Given the description of an element on the screen output the (x, y) to click on. 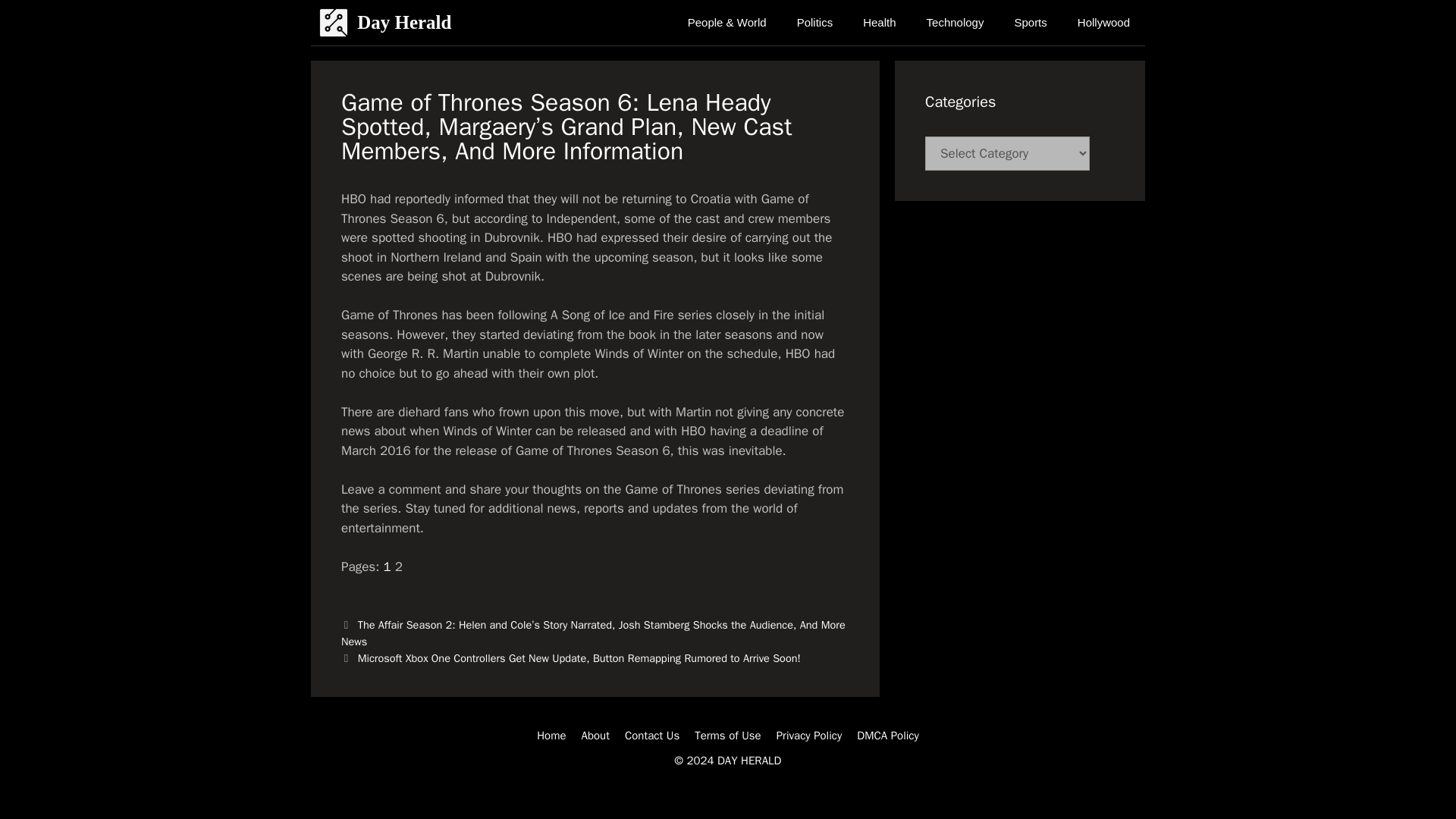
Sports (1029, 22)
Hollywood (1103, 22)
Health (879, 22)
About (595, 735)
Politics (814, 22)
Home (551, 735)
Contact Us (651, 735)
Privacy Policy (809, 735)
Terms of Use (727, 735)
Technology (954, 22)
DMCA Policy (887, 735)
Day Herald (403, 22)
